Given the description of an element on the screen output the (x, y) to click on. 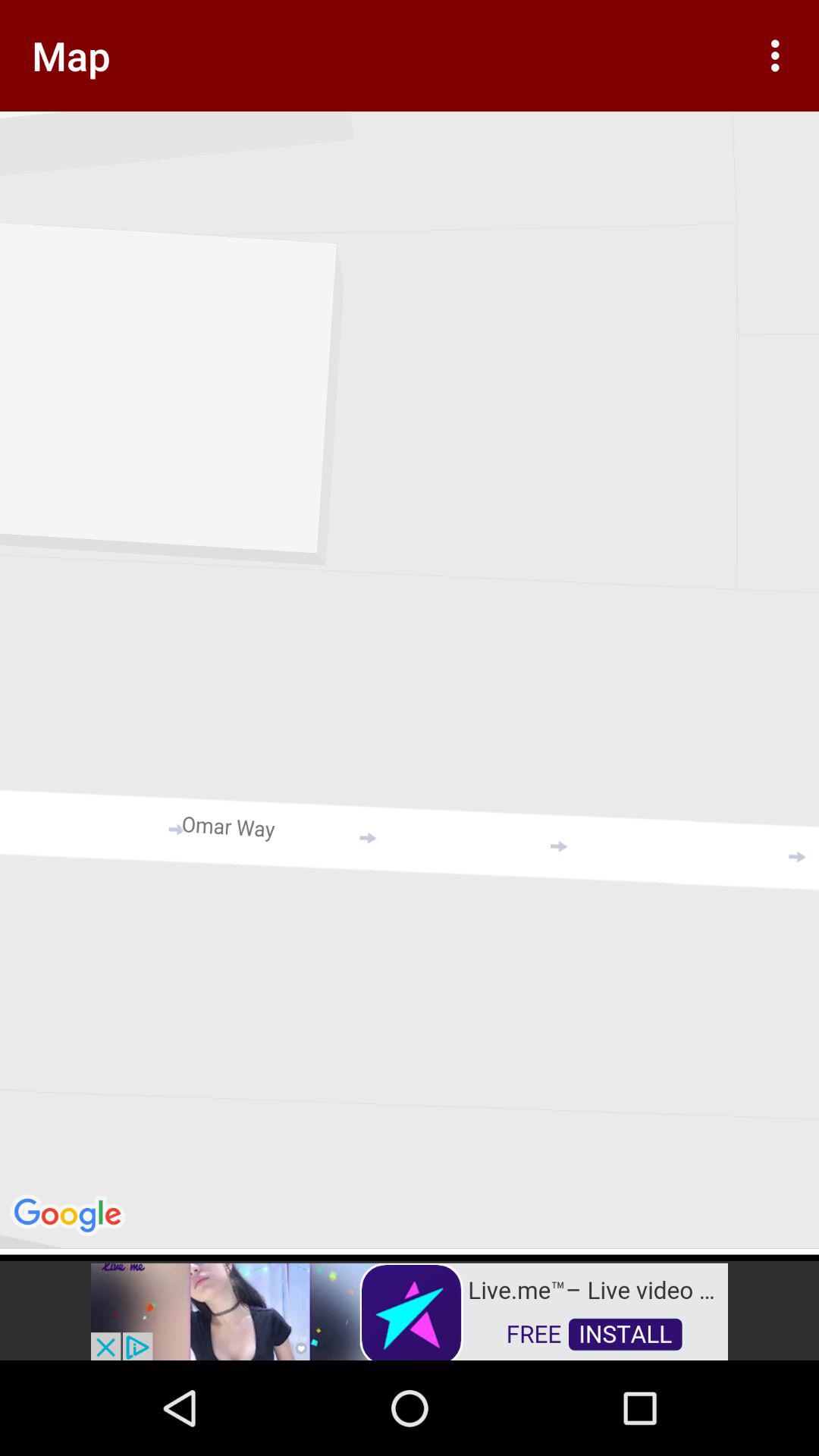
advertisement (409, 1310)
